Given the description of an element on the screen output the (x, y) to click on. 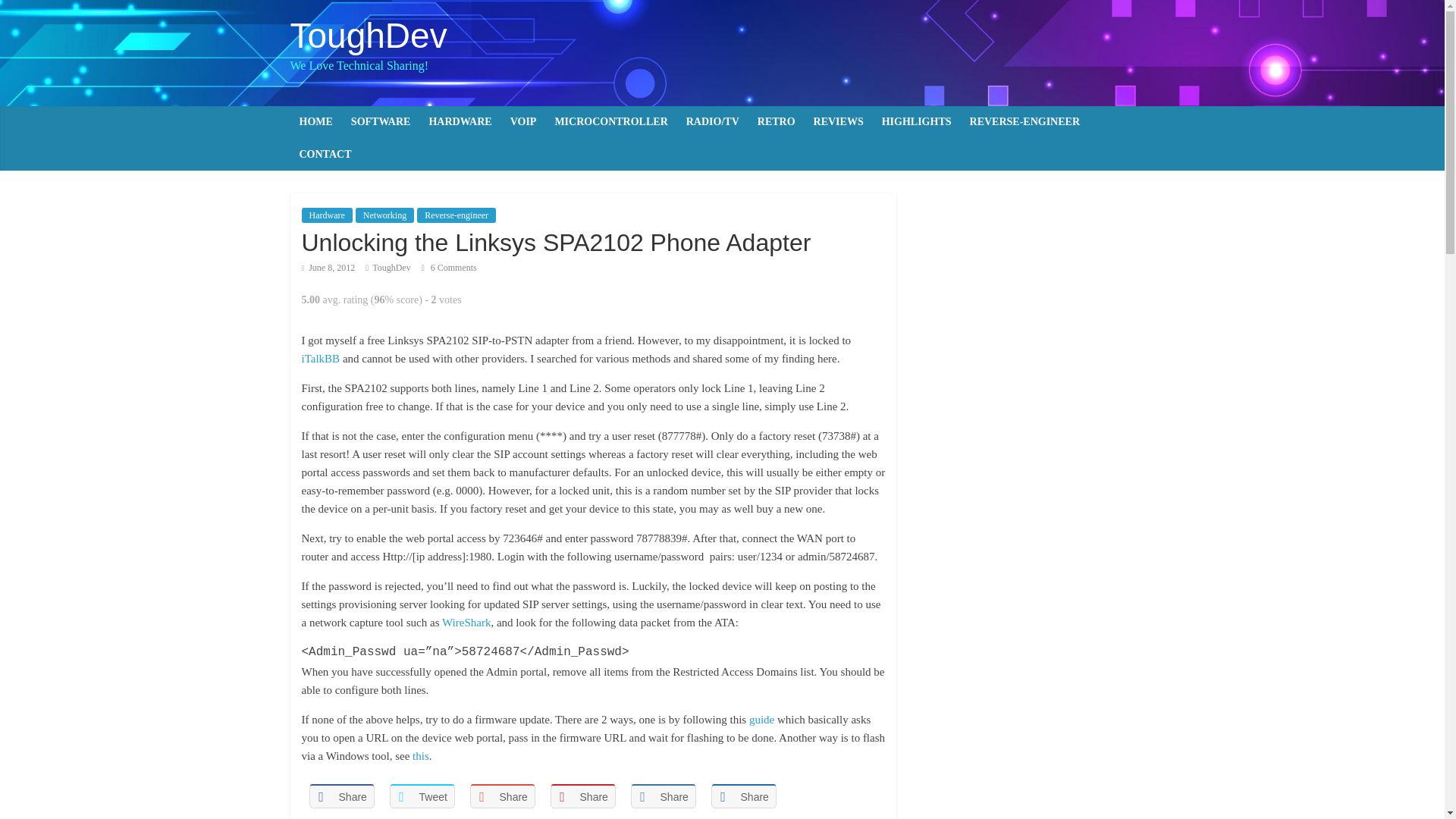
Share on LinkedIn (662, 796)
Share (582, 796)
WireShark (466, 622)
guide (761, 719)
HOME (314, 122)
CONTACT (324, 154)
Comment on Unlocking the Linksys SPA2102 Phone Adapter (449, 267)
Share on Google Plus (502, 796)
REVIEWS (838, 122)
12:32 pm (328, 267)
Share (502, 796)
this (420, 756)
Share on Facebook (341, 796)
REVERSE-ENGINEER (1024, 122)
ToughDev (391, 267)
